Given the description of an element on the screen output the (x, y) to click on. 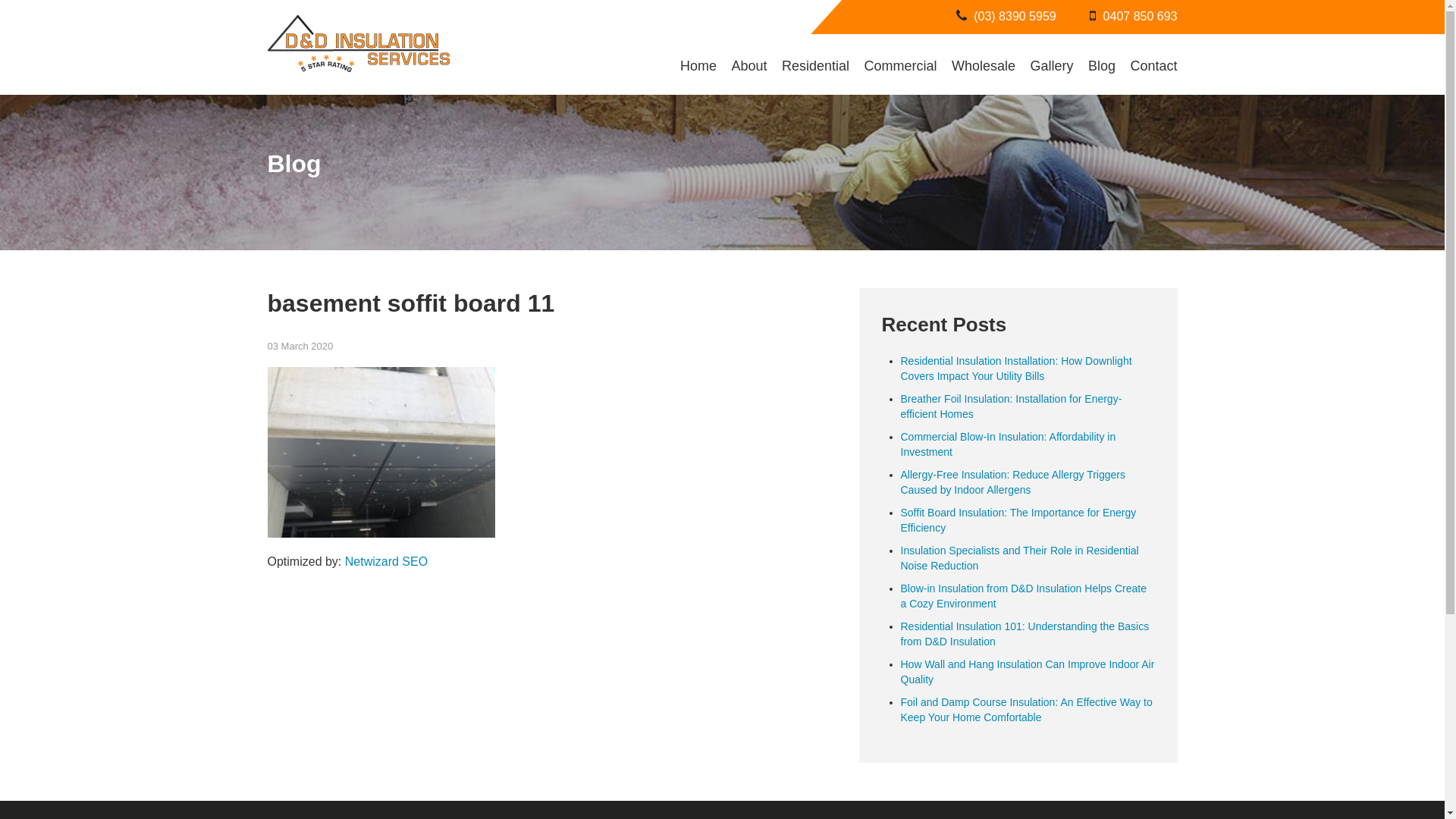
How Wall and Hang Insulation Can Improve Indoor Air Quality Element type: text (1027, 671)
Wholesale Element type: text (983, 65)
Commercial Blow-In Insulation: Affordability in Investment Element type: text (1008, 444)
Commercial Element type: text (900, 65)
About Element type: text (749, 65)
Residential Element type: text (815, 65)
Contact Element type: text (1152, 65)
Blog Element type: text (1101, 65)
Home Element type: text (698, 65)
Netwizard SEO Element type: text (386, 561)
Gallery Element type: text (1051, 65)
